Given the description of an element on the screen output the (x, y) to click on. 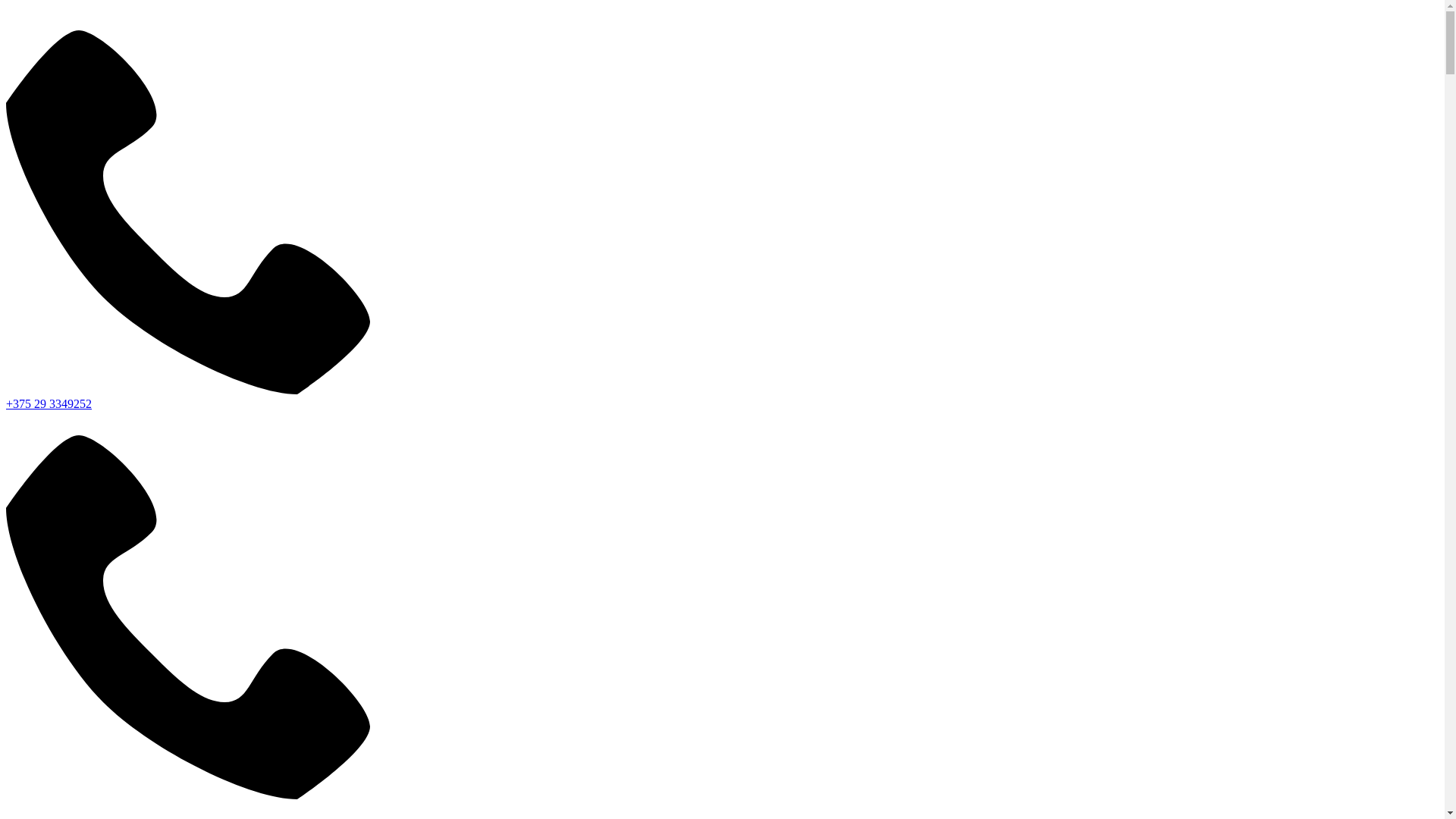
+375 29 3349252 Element type: text (48, 403)
